Given the description of an element on the screen output the (x, y) to click on. 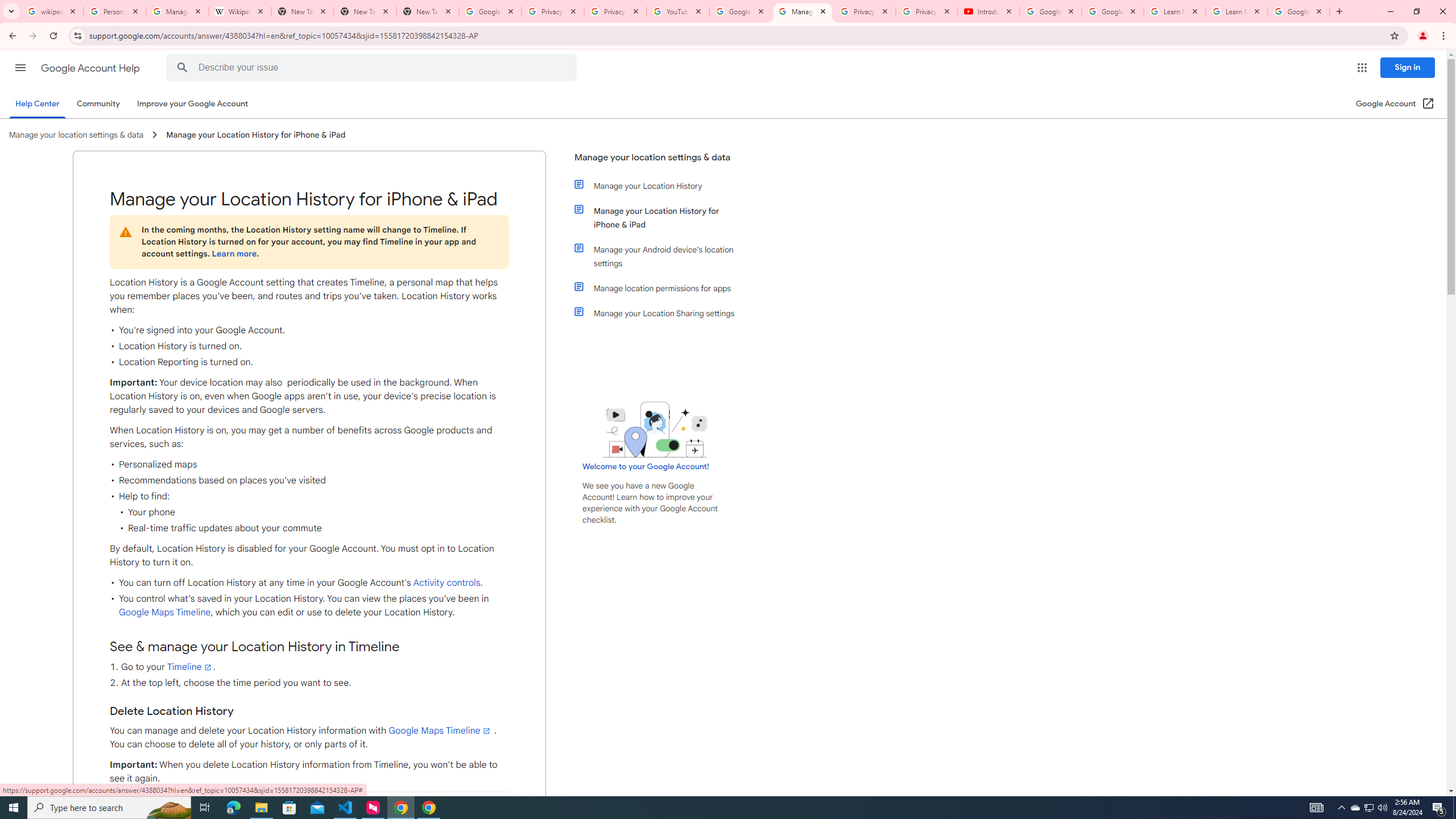
Search Help Center (181, 67)
Google Account Help (1050, 11)
Welcome to your Google Account! (645, 466)
Community (97, 103)
Learning Center home page image (655, 429)
New Tab (365, 11)
Manage your Location History (661, 185)
